Given the description of an element on the screen output the (x, y) to click on. 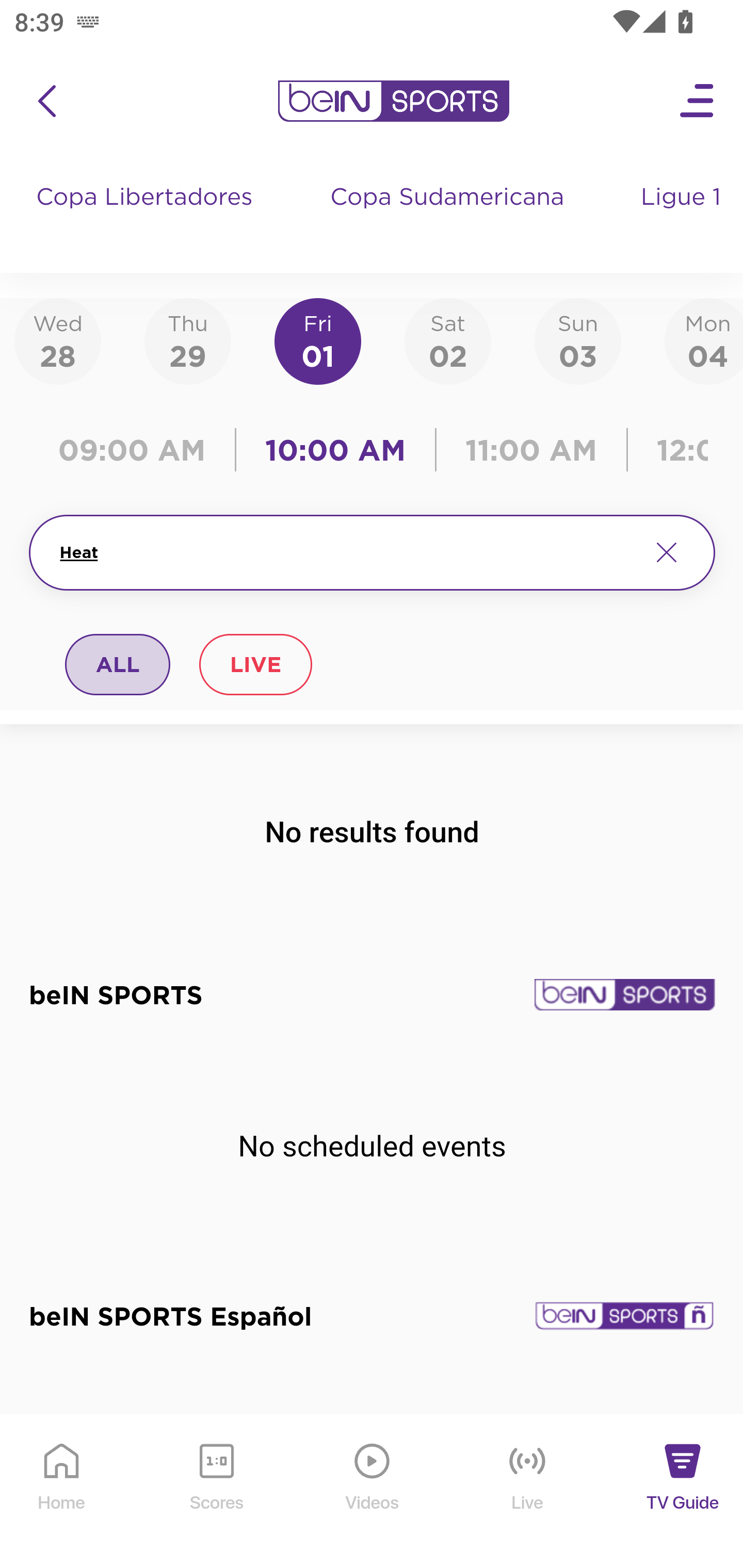
en-us?platform=mobile_android bein logo (392, 101)
icon back (46, 101)
Open Menu Icon (697, 101)
Copa Libertadores (146, 216)
Copa Sudamericana (448, 216)
Ligue 1 (682, 216)
Wed28 (58, 340)
Thu29 (187, 340)
Fri01 (318, 340)
Sat02 (447, 340)
Sun03 (578, 340)
Mon04 (703, 340)
09:00 AM (136, 449)
10:00 AM (335, 449)
11:00 AM (531, 449)
Heat (346, 552)
ALL (118, 663)
LIVE (255, 663)
Home Home Icon Home (61, 1491)
Scores Scores Icon Scores (216, 1491)
Videos Videos Icon Videos (372, 1491)
TV Guide TV Guide Icon TV Guide (682, 1491)
